Given the description of an element on the screen output the (x, y) to click on. 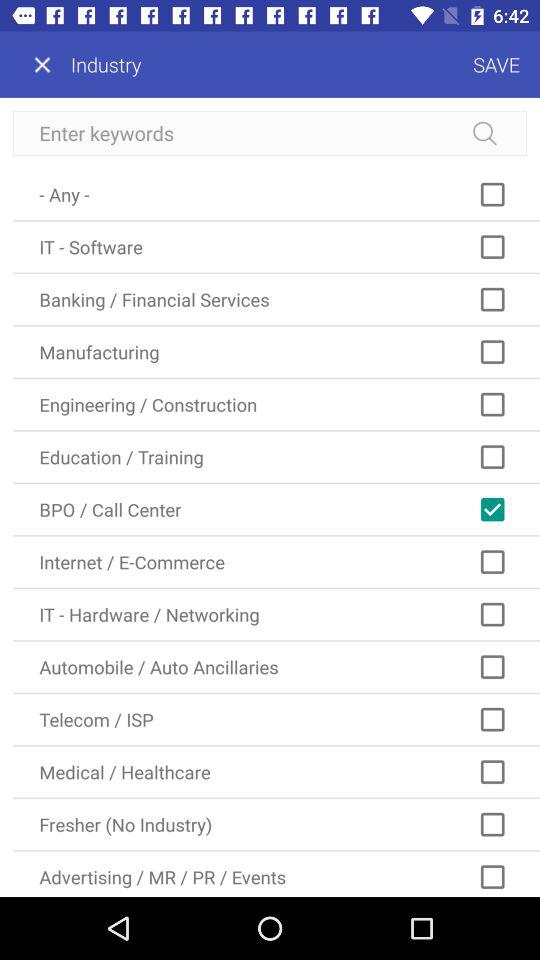
turn on banking / financial services (276, 299)
